Given the description of an element on the screen output the (x, y) to click on. 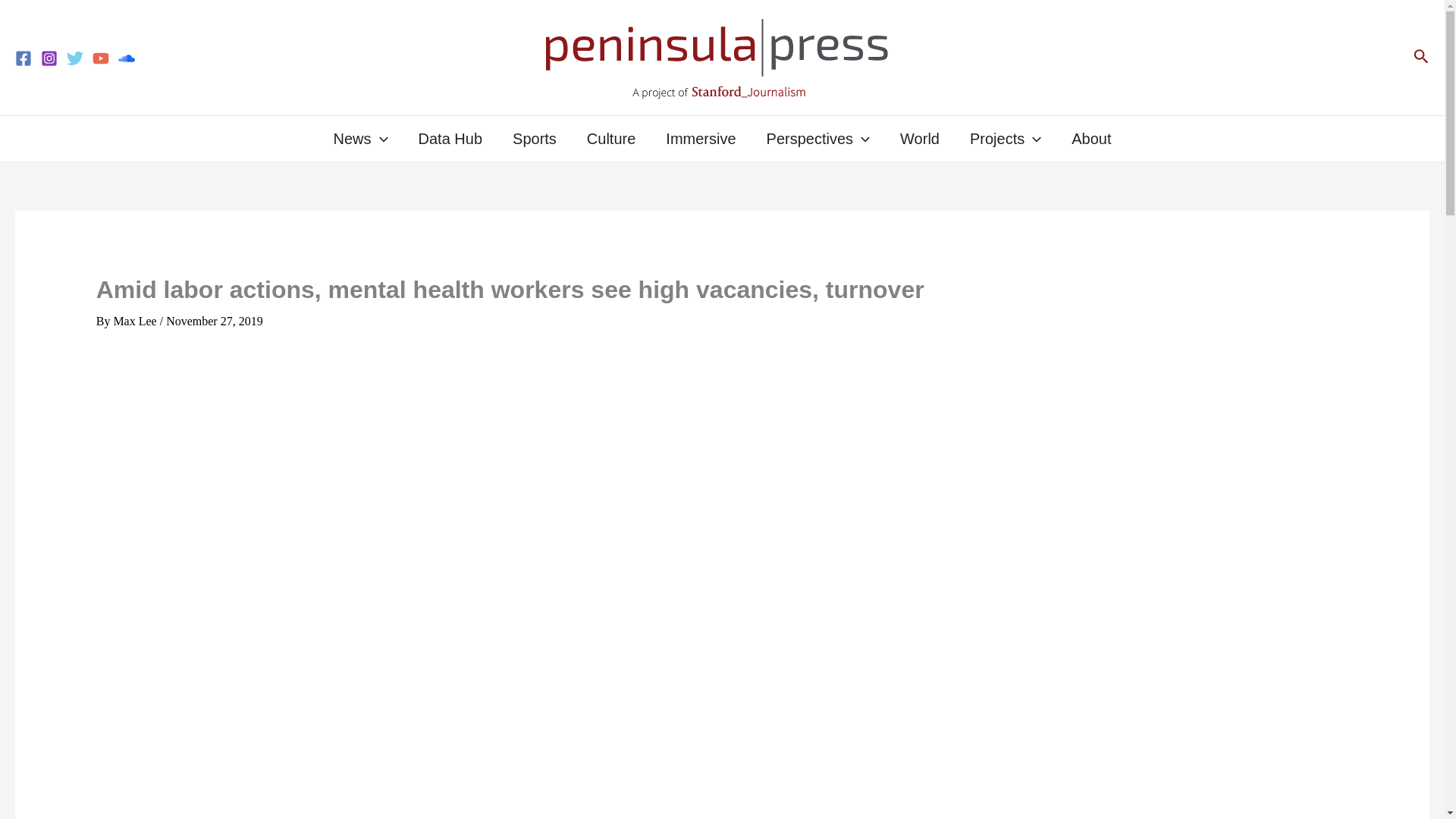
World (920, 138)
Immersive (700, 138)
About (1091, 138)
View all posts by Max Lee (134, 320)
Projects (1006, 138)
Perspectives (818, 138)
Culture (611, 138)
News (360, 138)
Sports (534, 138)
